Given the description of an element on the screen output the (x, y) to click on. 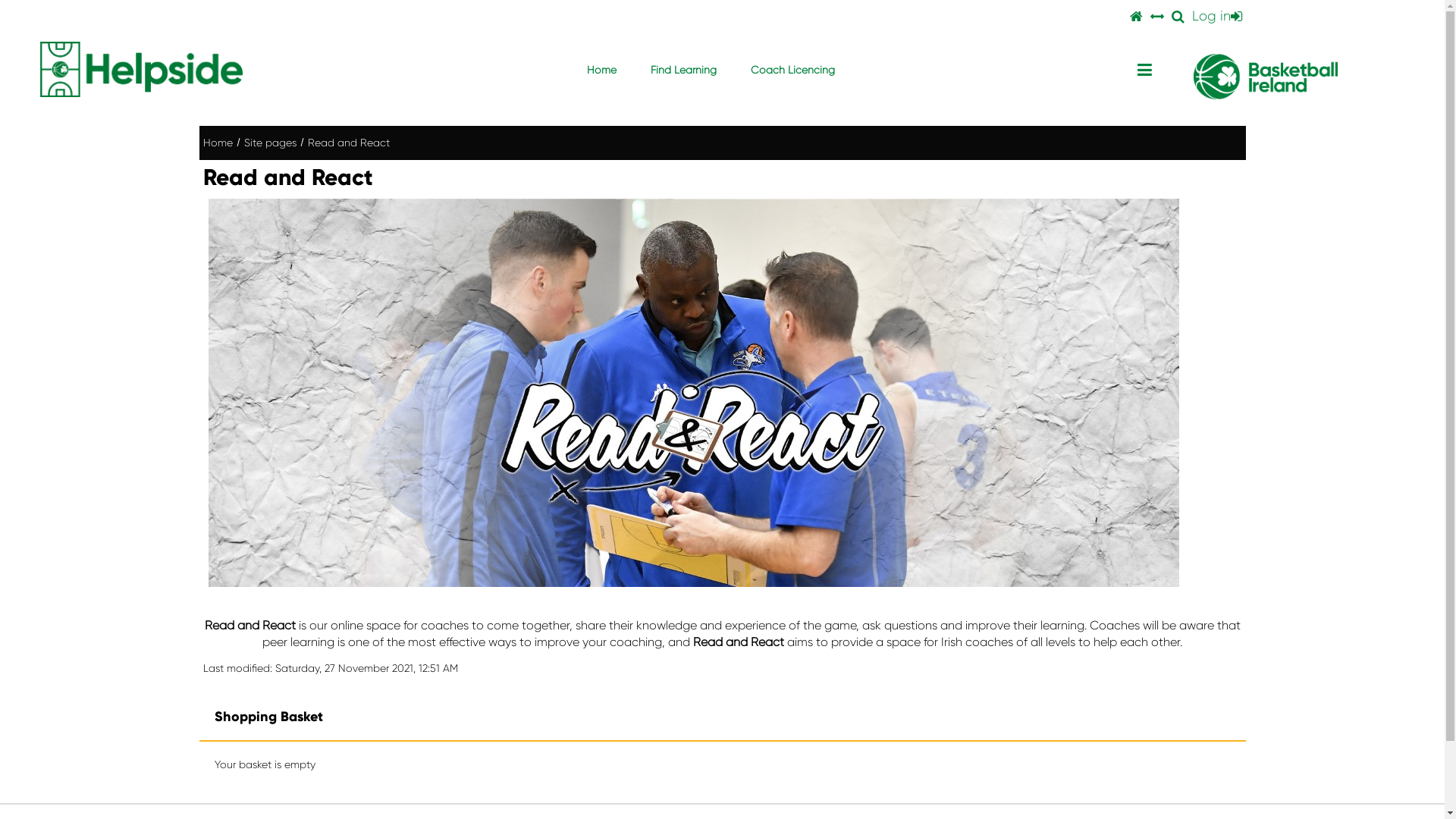
Find Learning Element type: text (683, 69)
Helpside Element type: text (141, 69)
Log in Element type: text (1216, 16)
Skip Shopping Basket Element type: text (198, 693)
Home Element type: text (217, 142)
Coach Licencing Element type: text (792, 69)
Read and React Element type: text (348, 142)
Home Element type: text (601, 69)
